Given the description of an element on the screen output the (x, y) to click on. 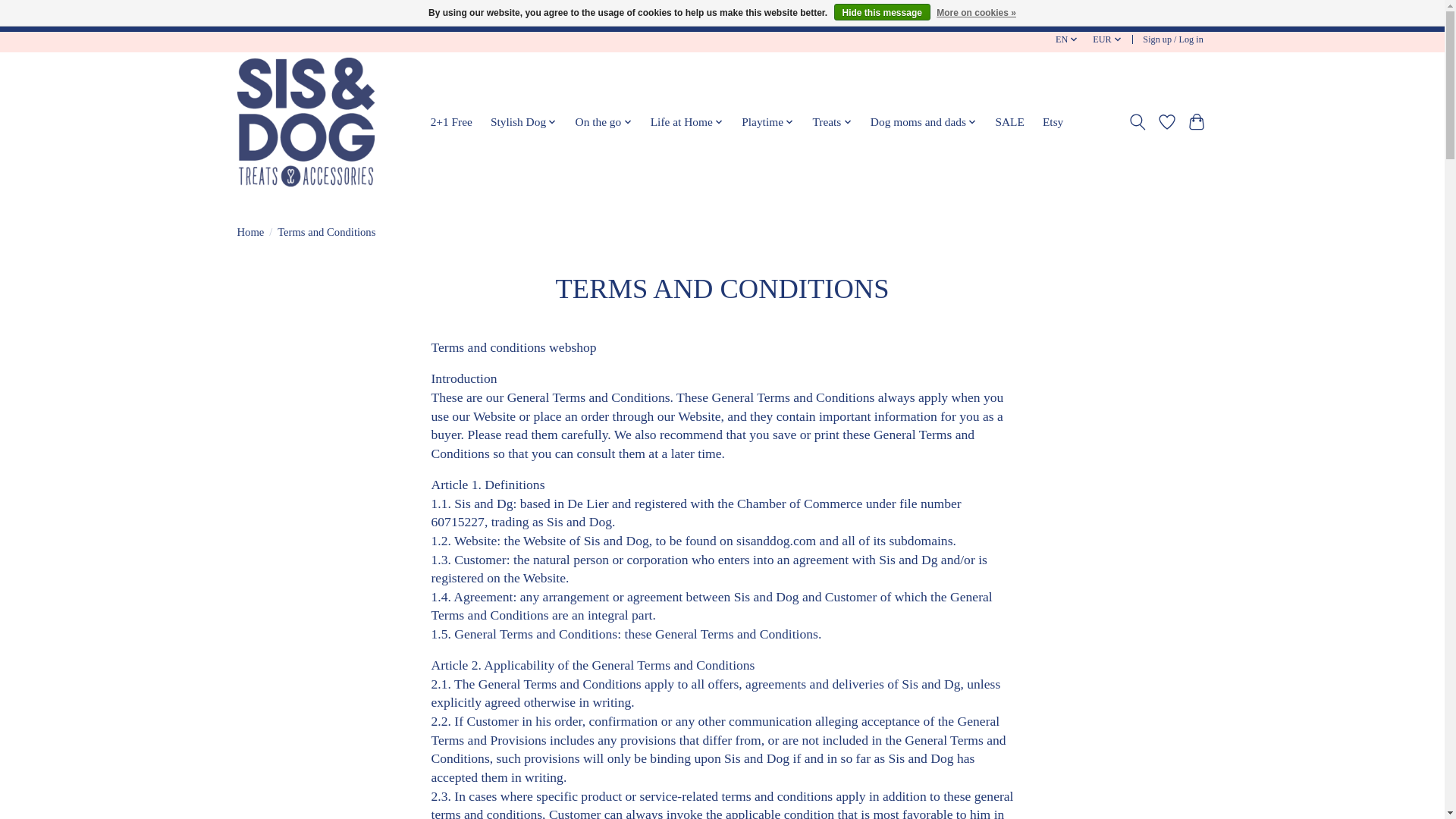
Stylish Dog (523, 121)
Sis and Dog treats and accessories (304, 121)
Life at Home (687, 121)
EUR (1107, 39)
My account (1173, 39)
EN (1067, 39)
On the go (603, 121)
